Given the description of an element on the screen output the (x, y) to click on. 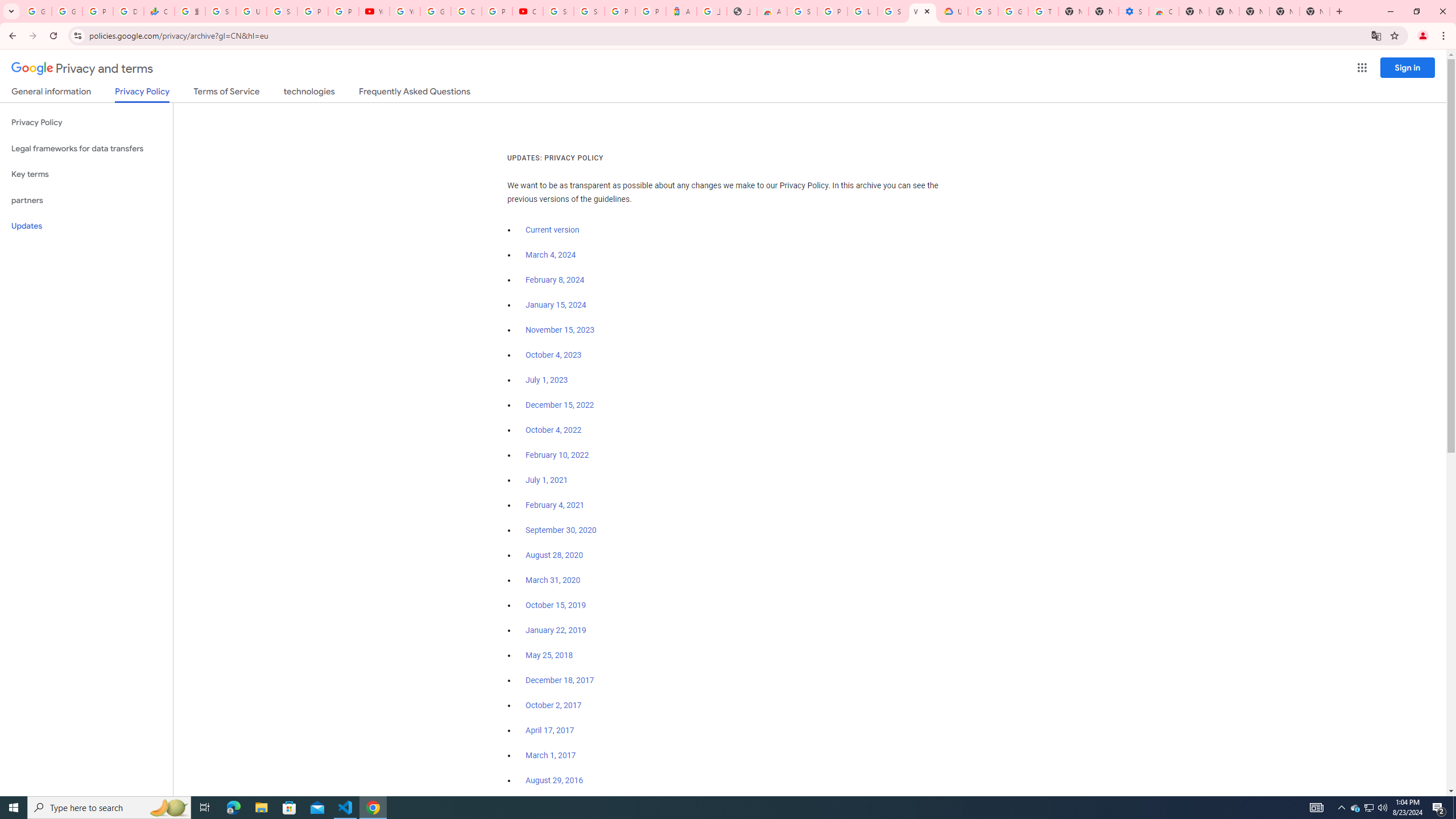
February 4, 2021 (555, 505)
